Given the description of an element on the screen output the (x, y) to click on. 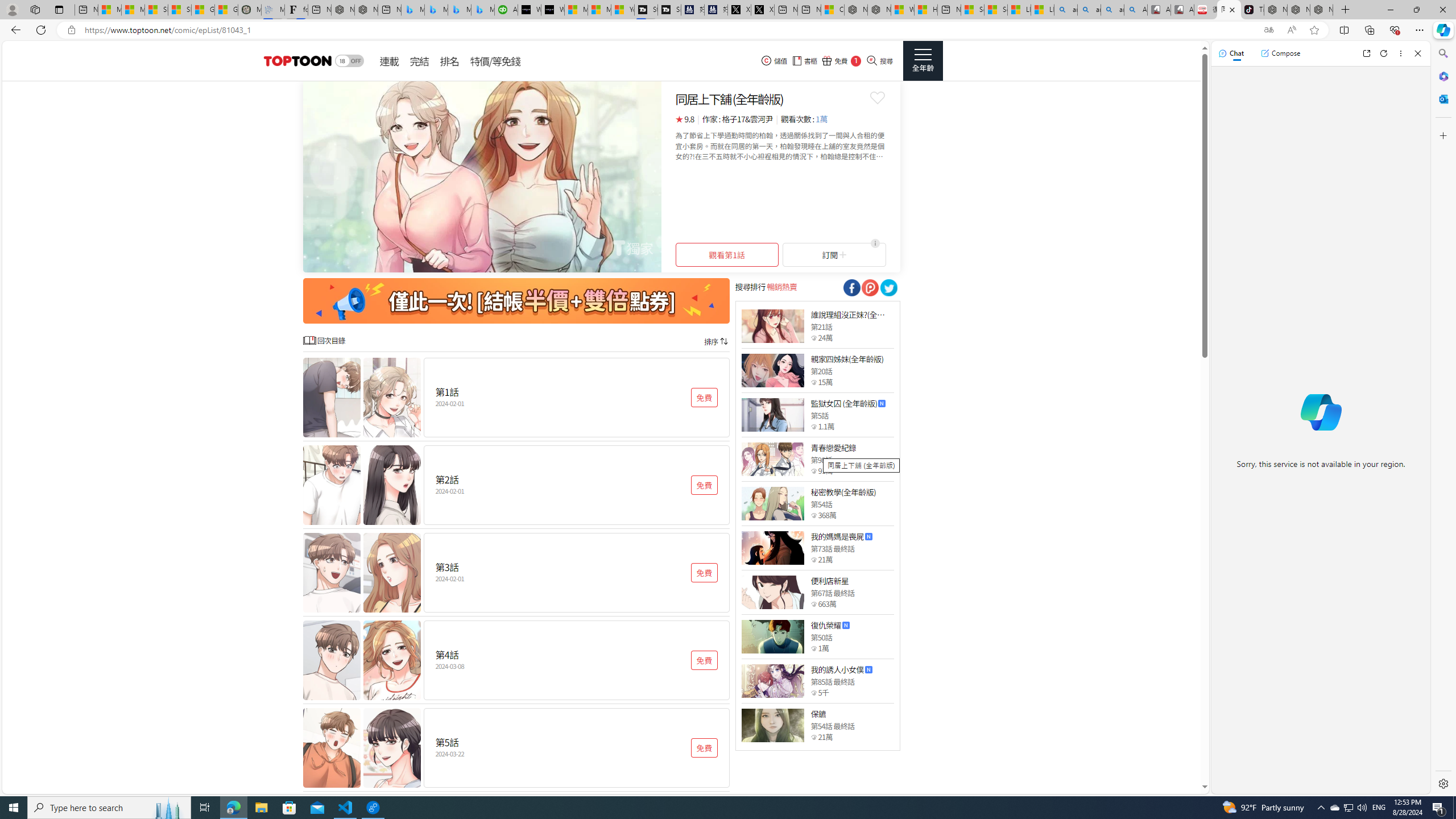
Class: epicon_starpoint (813, 736)
amazon - Search Images (1112, 9)
Class: thumb_img (772, 725)
